Given the description of an element on the screen output the (x, y) to click on. 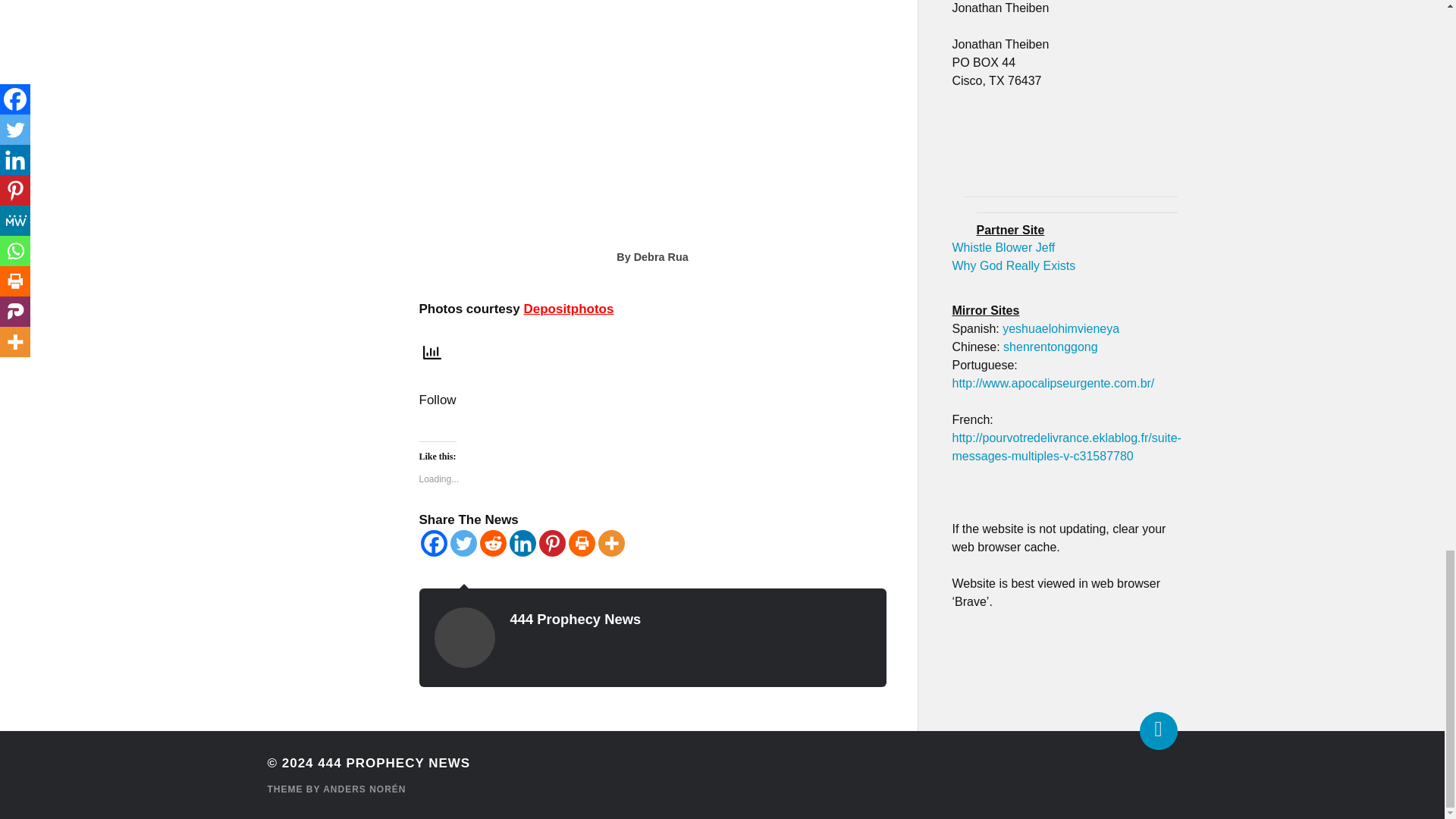
Linkedin (522, 542)
Twitter (618, 424)
Print (582, 542)
Facebook (585, 424)
Gab (684, 424)
Parler (718, 424)
Pinterest (551, 542)
Depositphotos (567, 309)
YouTube (651, 424)
More (610, 542)
